Given the description of an element on the screen output the (x, y) to click on. 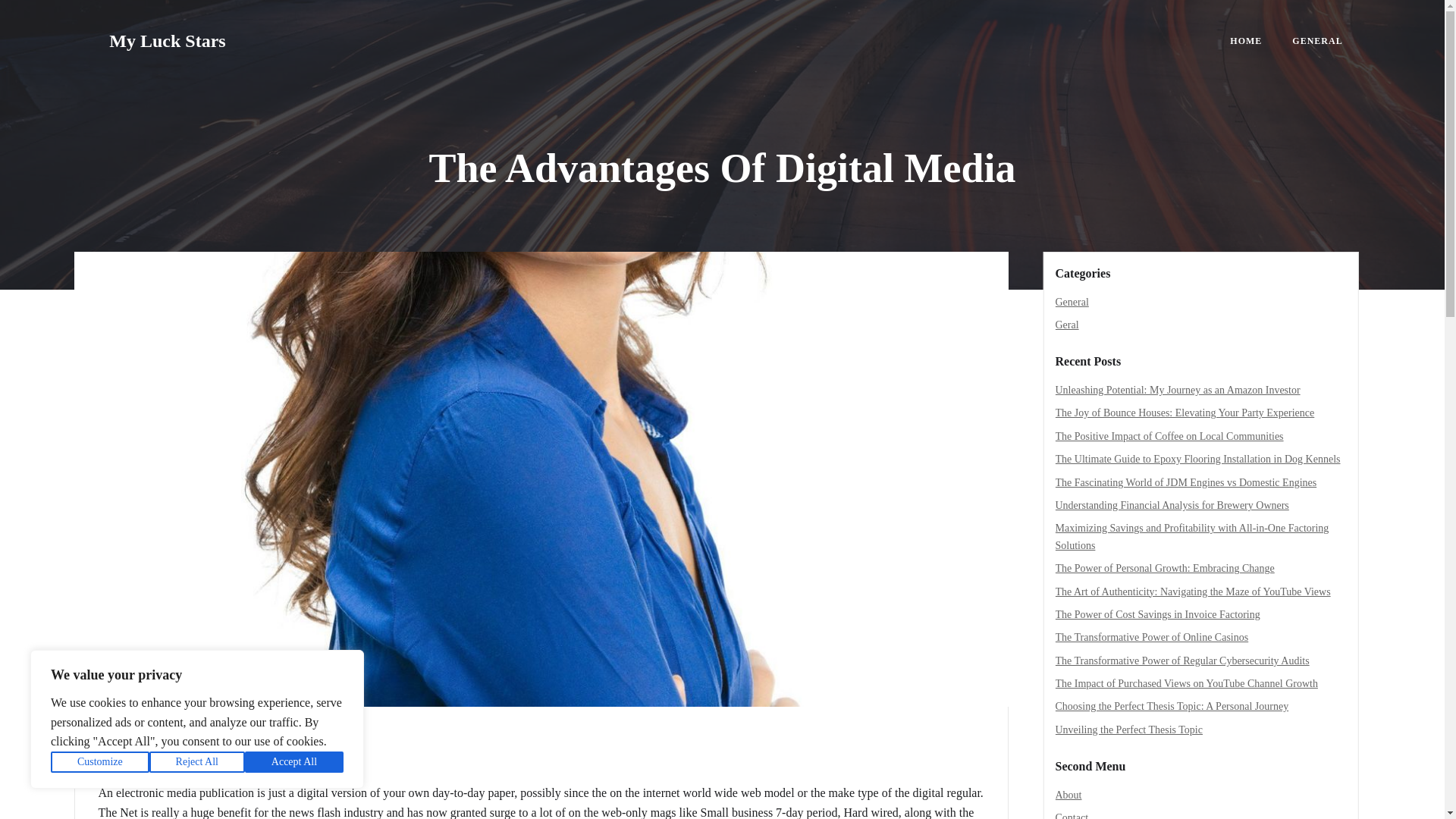
admin (119, 760)
The Fascinating World of JDM Engines vs Domestic Engines (1186, 482)
HOME (1246, 40)
The Joy of Bounce Houses: Elevating Your Party Experience (1184, 412)
Reject All (196, 762)
The Positive Impact of Coffee on Local Communities (1169, 436)
General (1072, 301)
Accept All (293, 762)
GENERAL (1317, 40)
Unleashing Potential: My Journey as an Amazon Investor (1177, 389)
My Luck Stars (167, 40)
Geral (1066, 324)
Customize (99, 762)
General (138, 740)
